Given the description of an element on the screen output the (x, y) to click on. 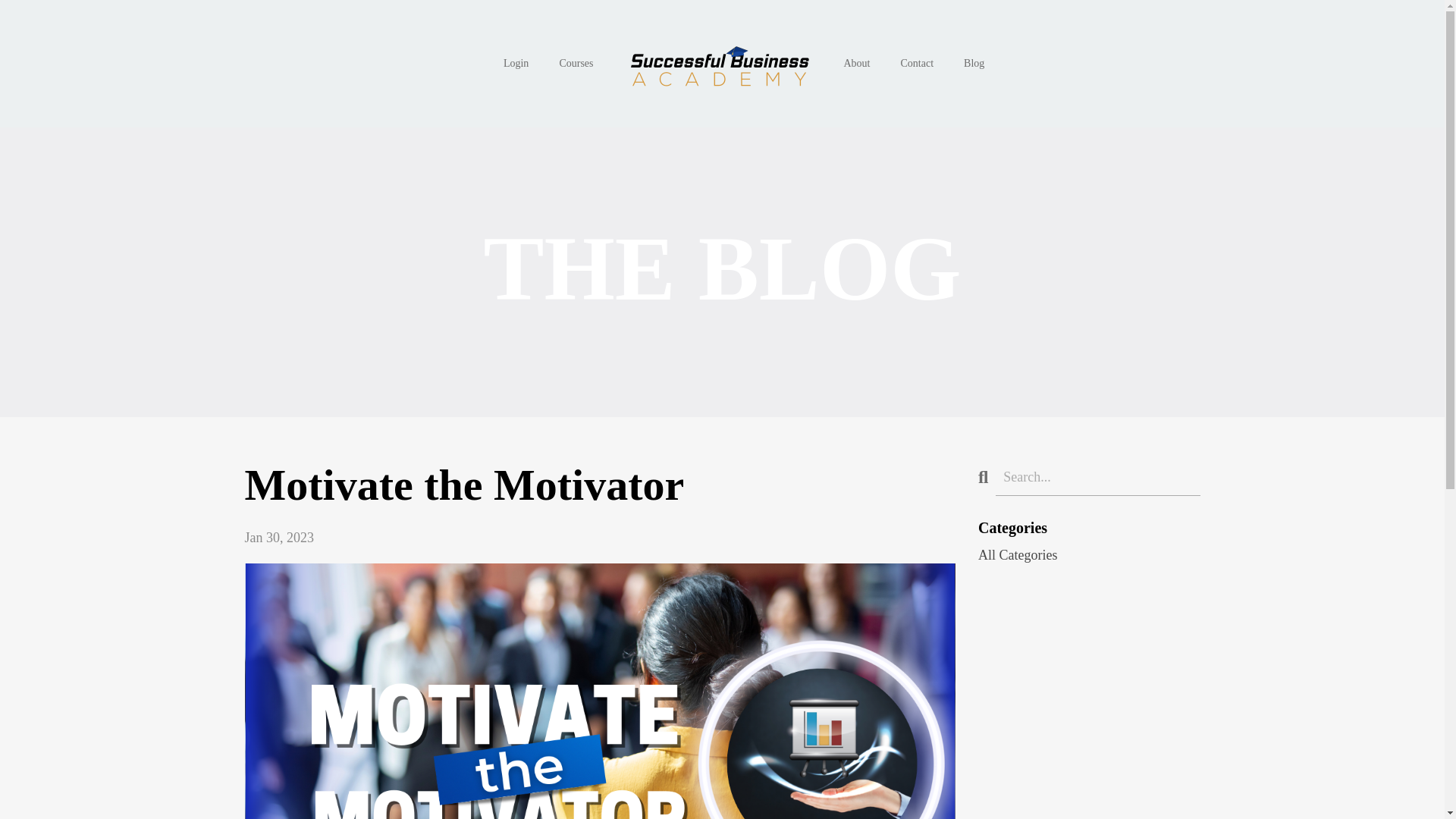
About (856, 63)
Blog (973, 63)
Contact (917, 63)
All Categories (1088, 555)
Courses (575, 63)
Login (515, 63)
